Given the description of an element on the screen output the (x, y) to click on. 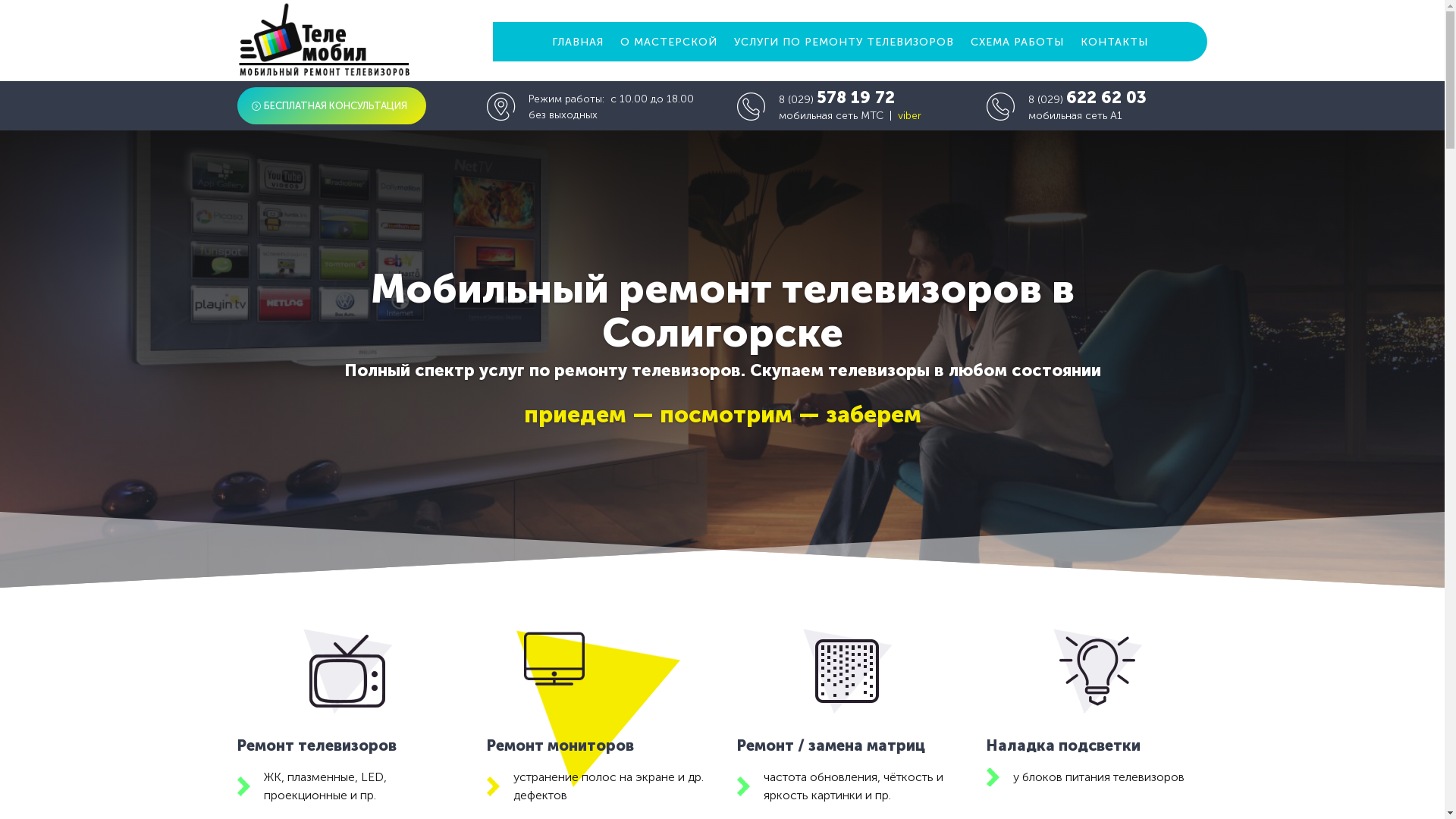
1 Element type: text (709, 557)
ic1 Element type: hover (346, 671)
ic3 Element type: hover (846, 671)
logo (1) Element type: hover (323, 39)
ic4 Element type: hover (1096, 671)
2 Element type: text (721, 557)
3 Element type: text (734, 557)
578 19 72 Element type: text (855, 97)
ic2 Element type: hover (596, 708)
622 62 03 Element type: text (1106, 97)
